Given the description of an element on the screen output the (x, y) to click on. 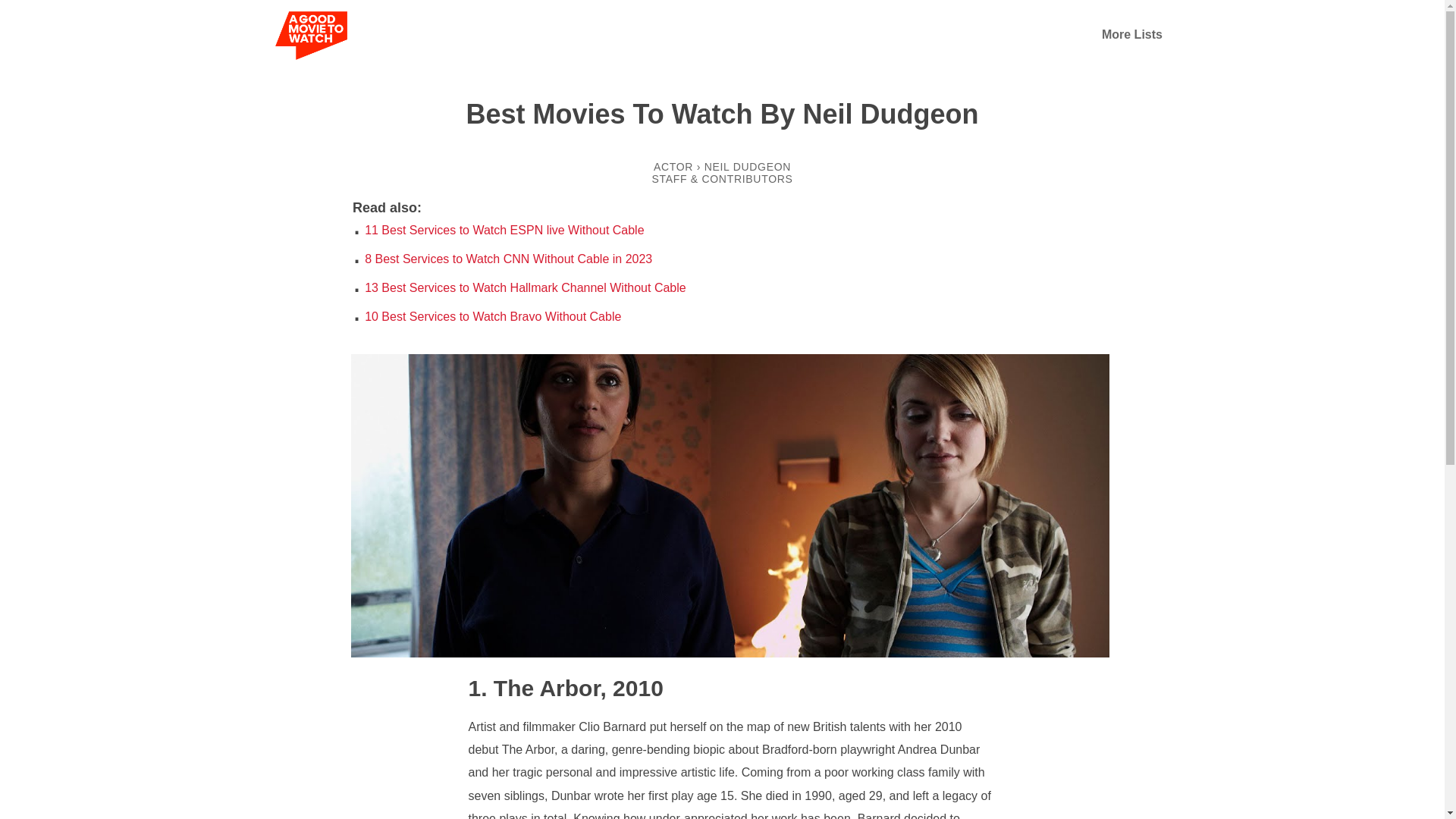
More Lists (1132, 34)
The Arbor (533, 687)
